Given the description of an element on the screen output the (x, y) to click on. 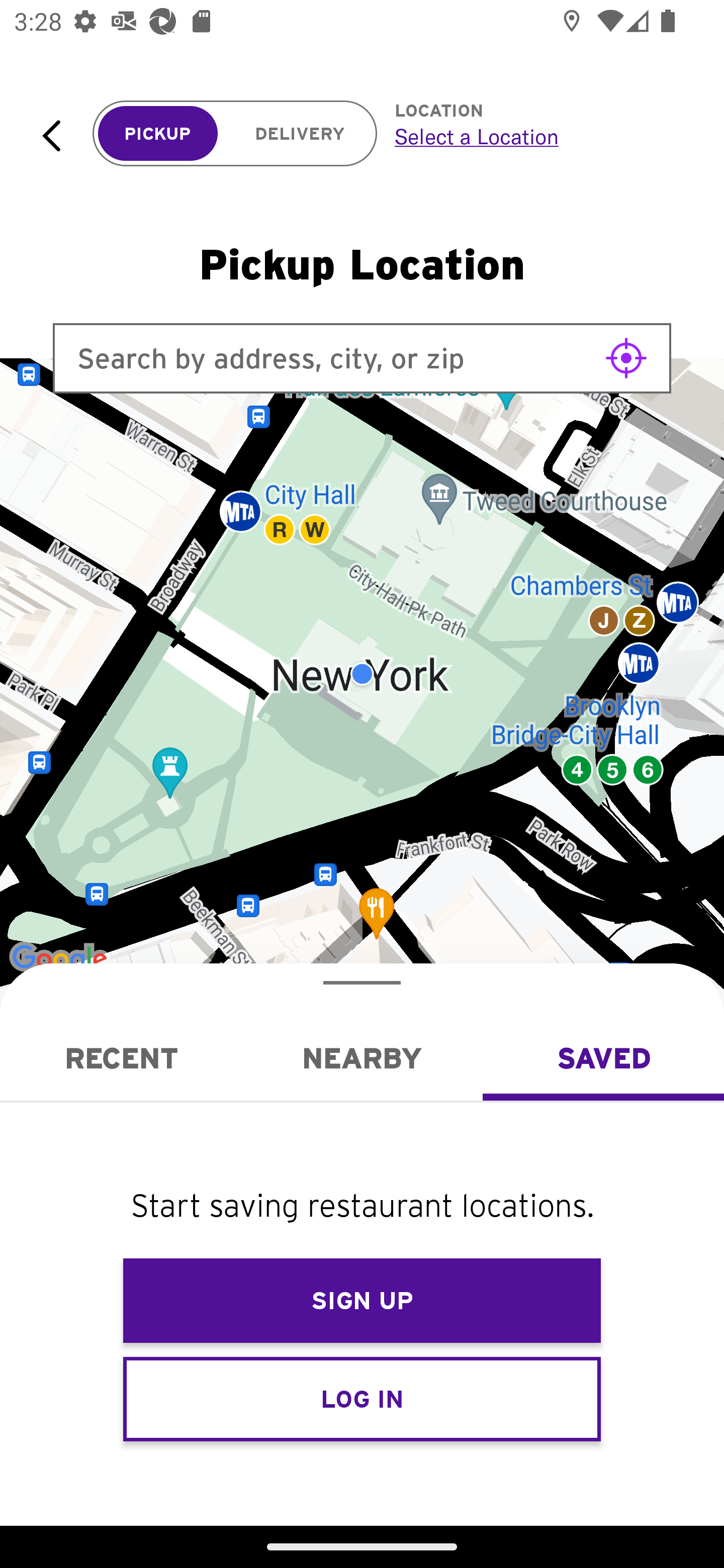
PICKUP (157, 133)
DELIVERY (299, 133)
Select a Location (536, 136)
Search by address, city, or zip (361, 358)
Google Map (362, 674)
Recent RECENT (120, 1058)
Nearby NEARBY (361, 1058)
SIGN UP (361, 1300)
LOG IN (361, 1398)
